Given the description of an element on the screen output the (x, y) to click on. 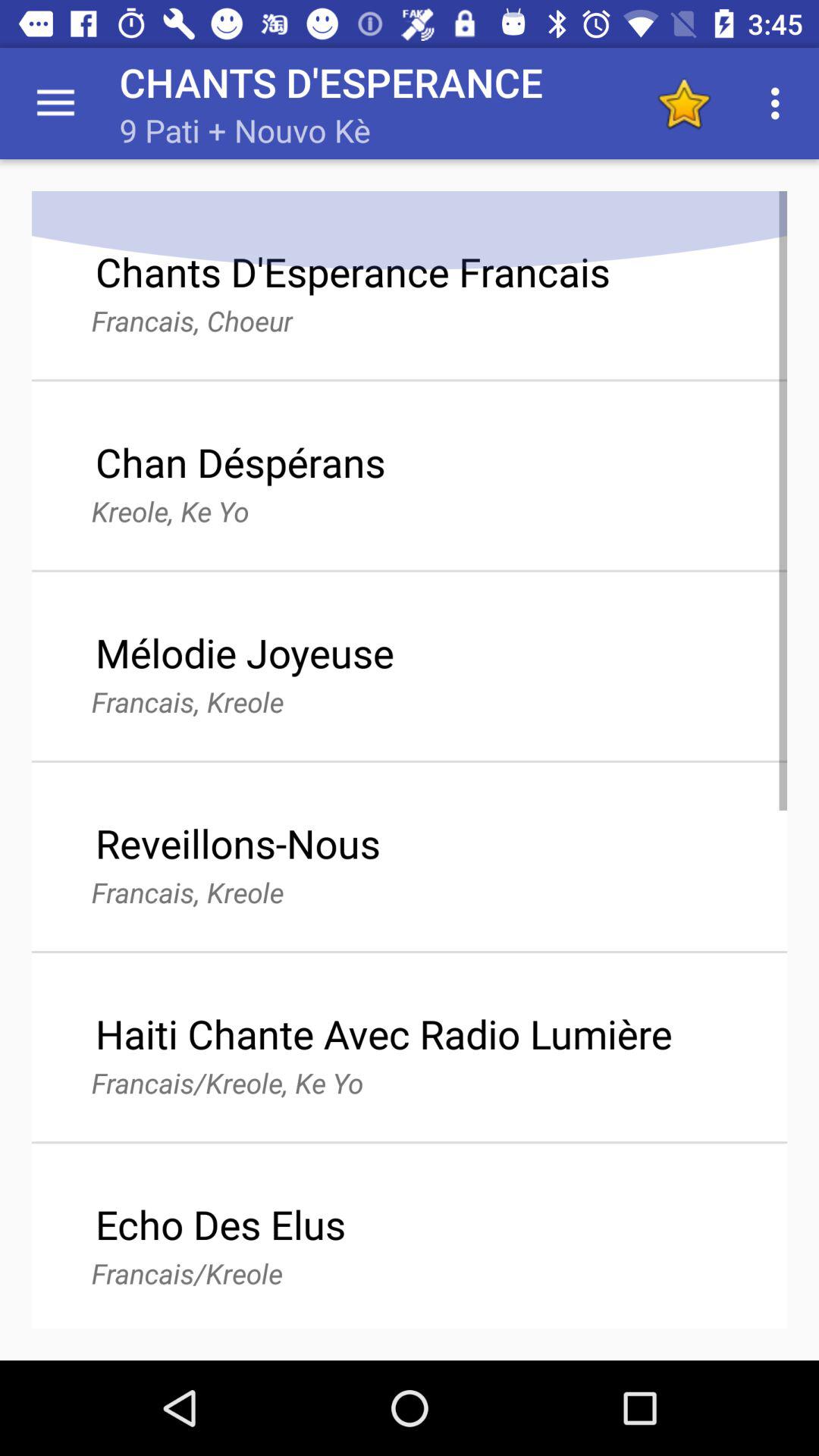
tap the item above haiti chante avec icon (683, 103)
